Given the description of an element on the screen output the (x, y) to click on. 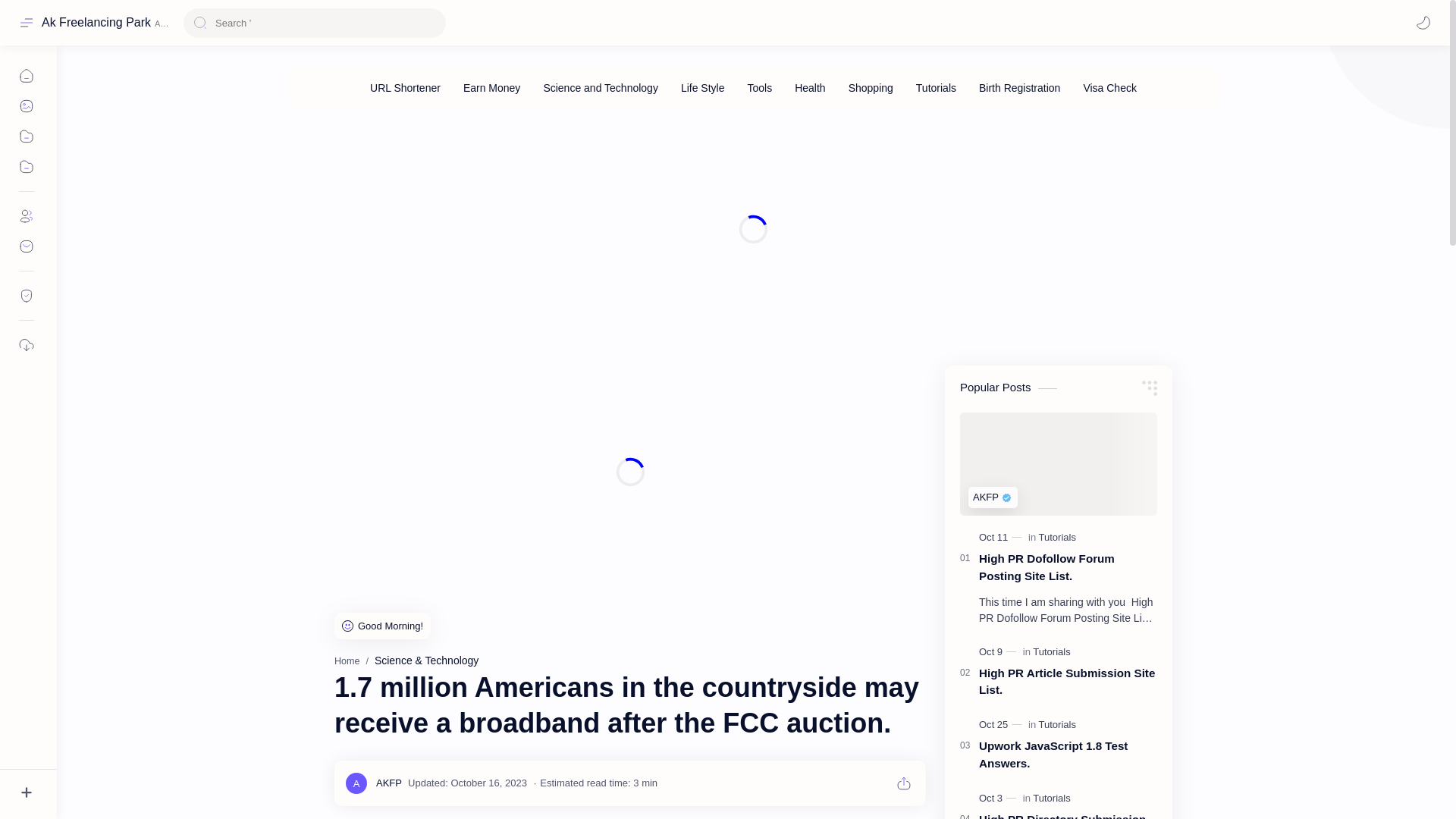
Published: October 9, 2014 (999, 652)
Ak Freelancing Park (96, 22)
Last updated: October 16, 2023 (467, 782)
Published: October 11, 2014 (1001, 537)
Published: October 25, 2014 (1001, 725)
Advertisement (630, 471)
Published: October 3, 2014 (999, 798)
Home (346, 661)
